Given the description of an element on the screen output the (x, y) to click on. 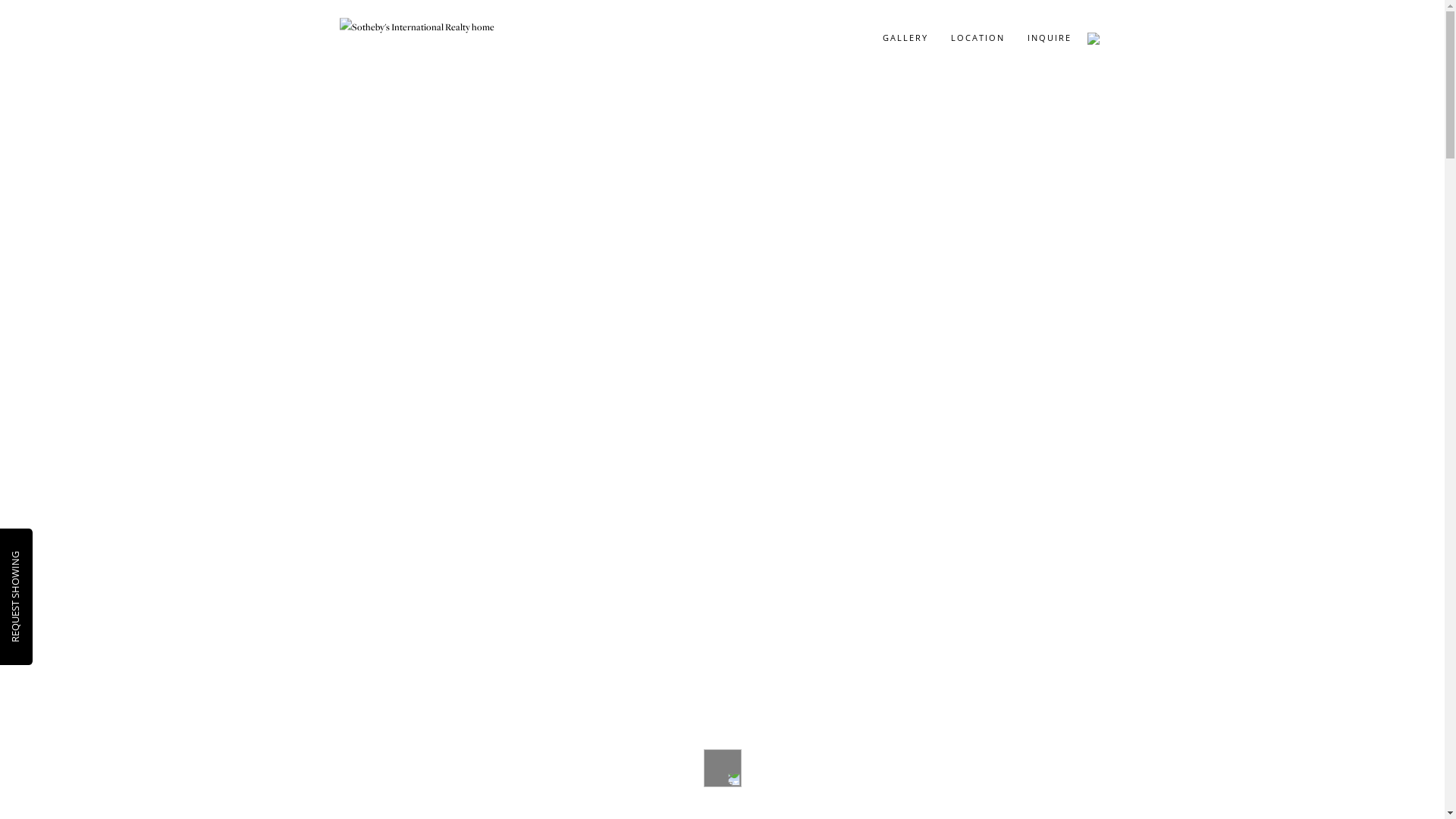
REQUEST SHOWING Element type: text (53, 557)
INQUIRE Element type: text (1049, 37)
GALLERY Element type: text (904, 37)
scroll for more info Element type: text (721, 757)
LOCATION Element type: text (976, 37)
